Given the description of an element on the screen output the (x, y) to click on. 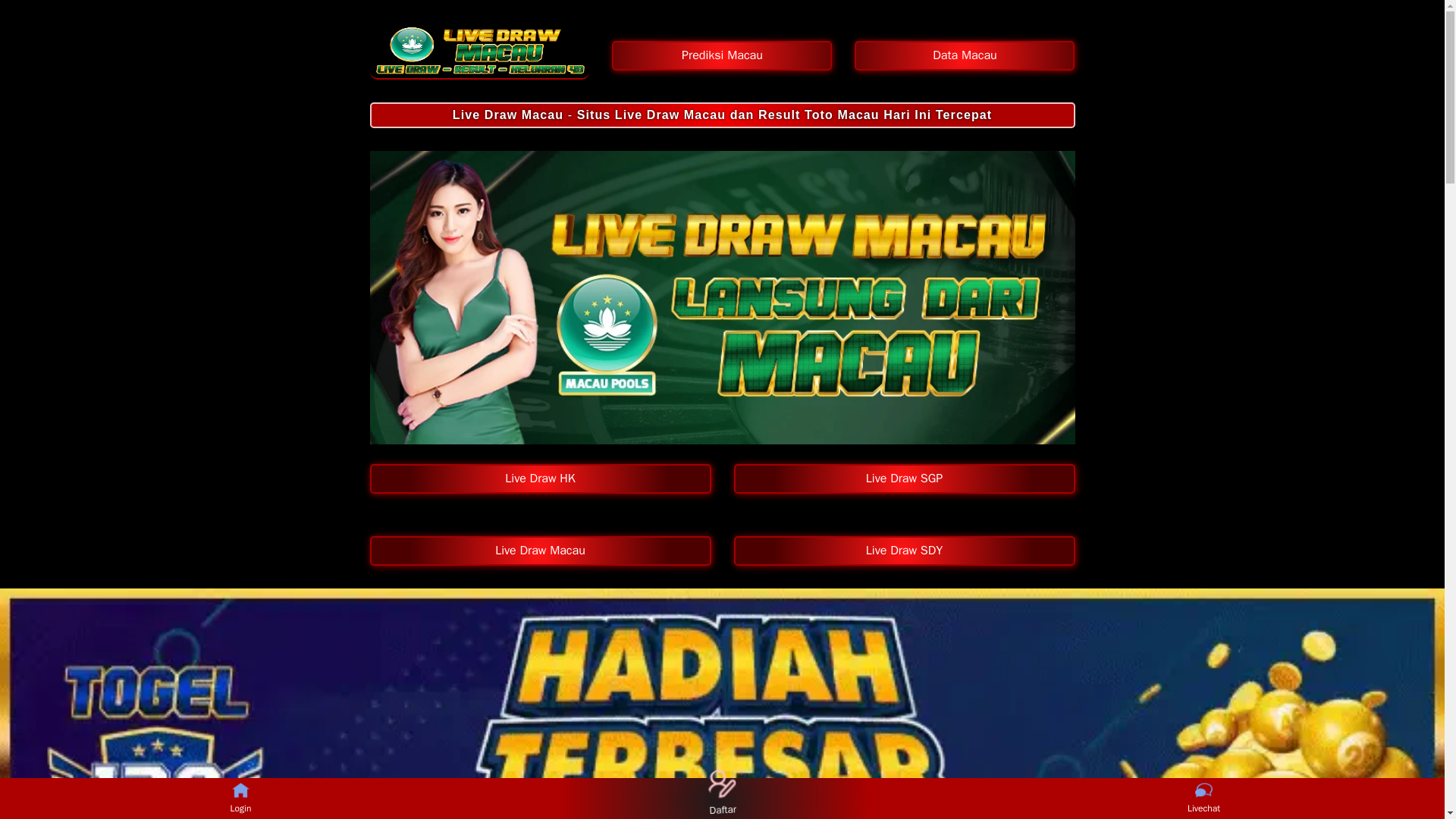
Live Draw SGP (904, 478)
Live Draw SGP (904, 478)
Live Draw HK (540, 478)
Live Draw Macau (540, 550)
Daftar Togel Terpercaya (716, 777)
Prediksi Macau (721, 55)
Live Draw SDY (904, 550)
Data Macau (964, 55)
Live Draw Macau (540, 550)
Prediksi Macau (721, 55)
Live Draw SDY (904, 550)
Login Togel138 (239, 789)
Daftar Togel Terpercaya (716, 776)
Live Draw Macau 4D (479, 50)
